Given the description of an element on the screen output the (x, y) to click on. 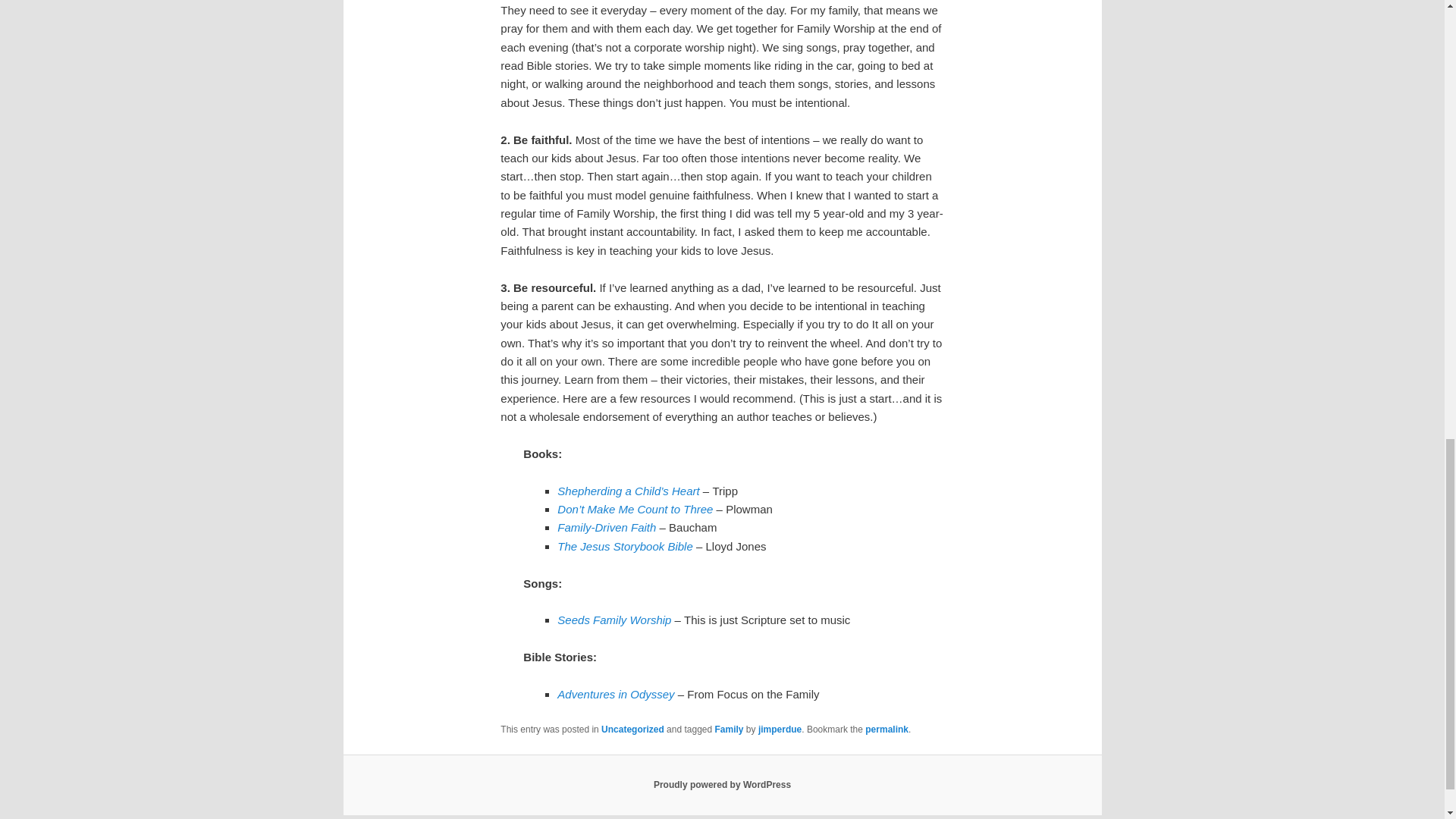
Adventures in Odyssey (615, 694)
Family (729, 728)
Proudly powered by WordPress (721, 784)
The Jesus Storybook Bible (625, 545)
Semantic Personal Publishing Platform (721, 784)
Uncategorized (632, 728)
Seeds Family Worship (614, 619)
Permalink to How To Teach Your Kids About Jesus (886, 728)
jimperdue (780, 728)
Family-Driven Faith (608, 526)
